Given the description of an element on the screen output the (x, y) to click on. 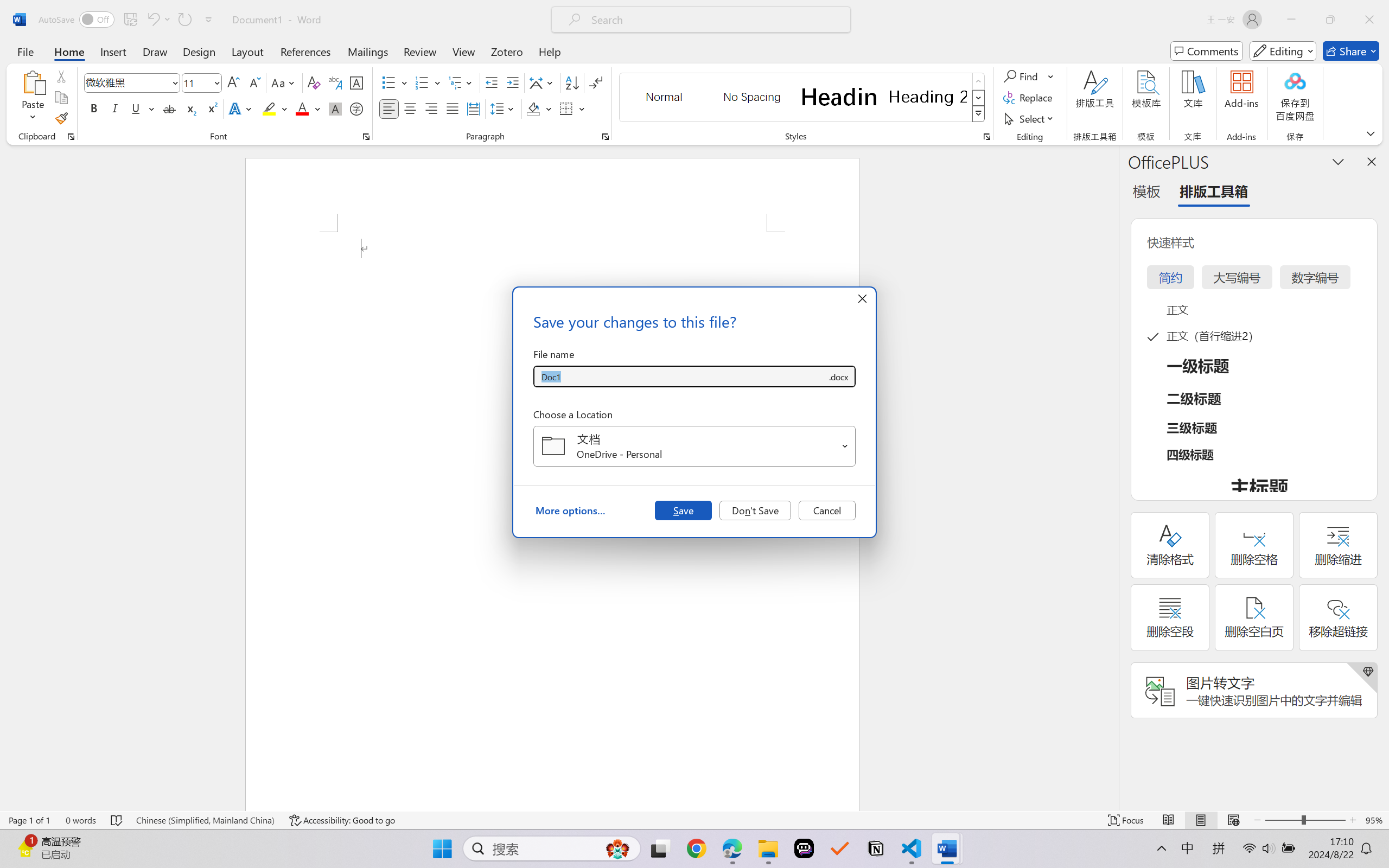
Slide Quote Name Card Layout: used by no slides (115, 490)
English (1250, 136)
Footer (694, 556)
Slide Number (538, 386)
